Given the description of an element on the screen output the (x, y) to click on. 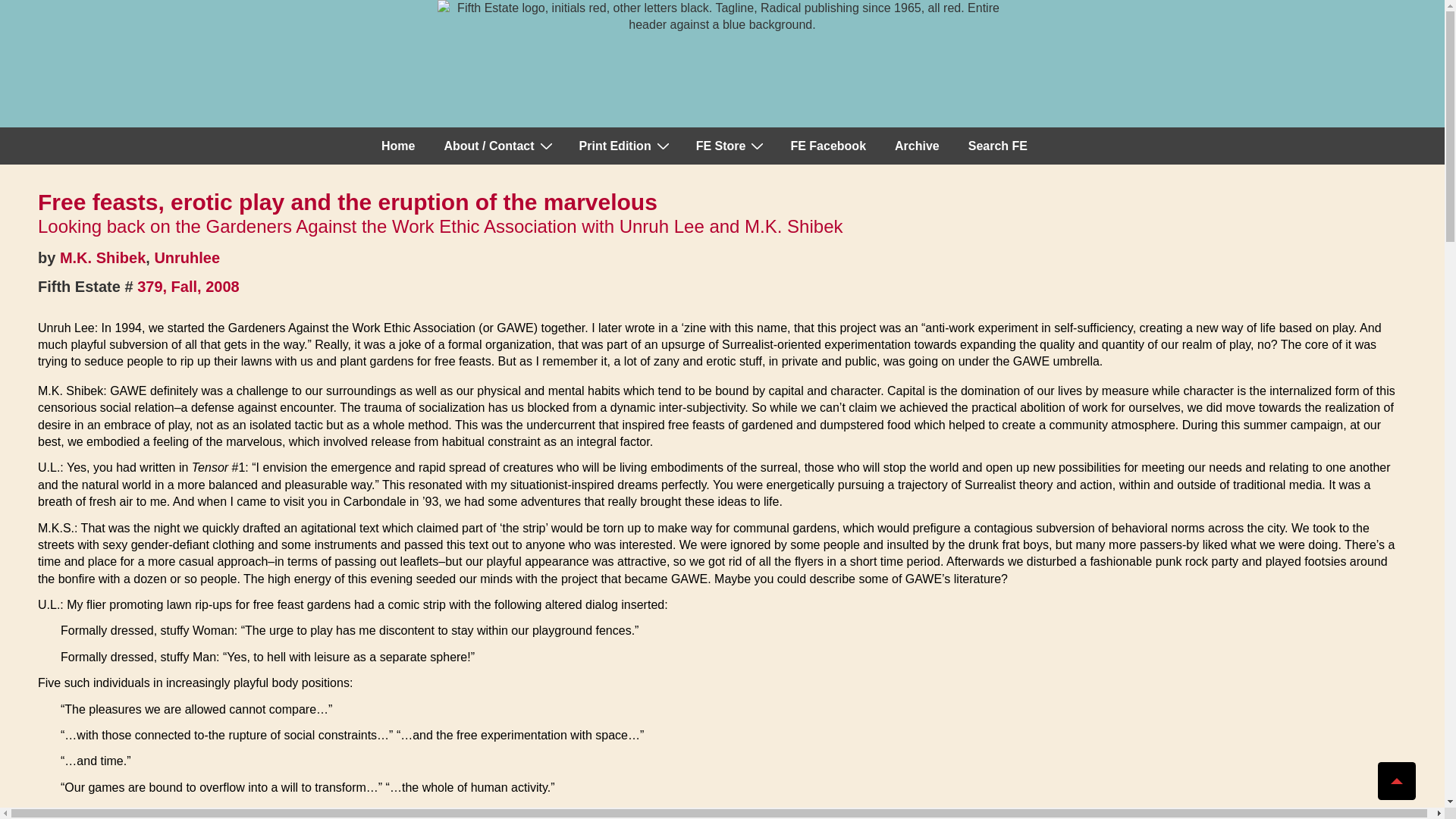
379, Fall, 2008 (188, 286)
FE Facebook (827, 145)
Print Edition (623, 145)
FE Store (729, 145)
Search FE (998, 145)
Scroll to Top (1396, 781)
Unruhlee (186, 257)
Home (398, 145)
Recordings (729, 145)
Top (1396, 781)
